Given the description of an element on the screen output the (x, y) to click on. 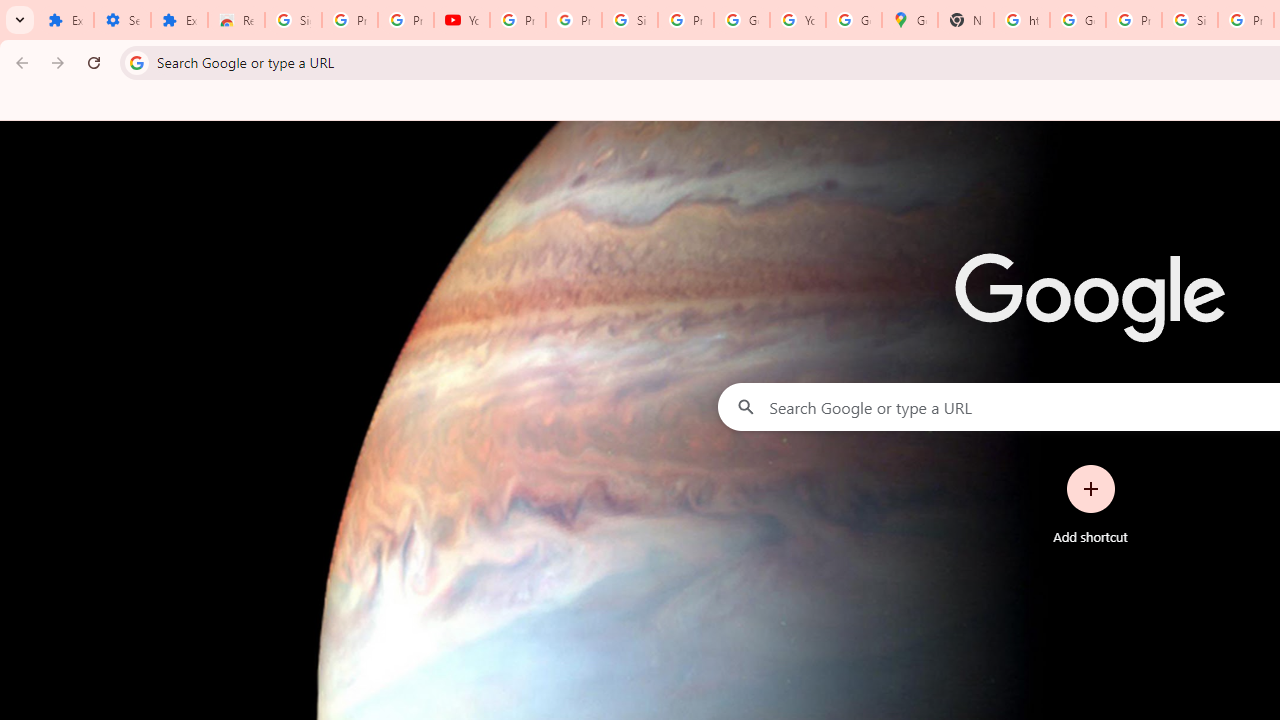
Reviews: Helix Fruit Jump Arcade Game (235, 20)
Google Maps (909, 20)
YouTube (461, 20)
Add shortcut (1090, 504)
https://scholar.google.com/ (1021, 20)
Sign in - Google Accounts (1190, 20)
Settings (122, 20)
Extensions (179, 20)
New Tab (966, 20)
